Given the description of an element on the screen output the (x, y) to click on. 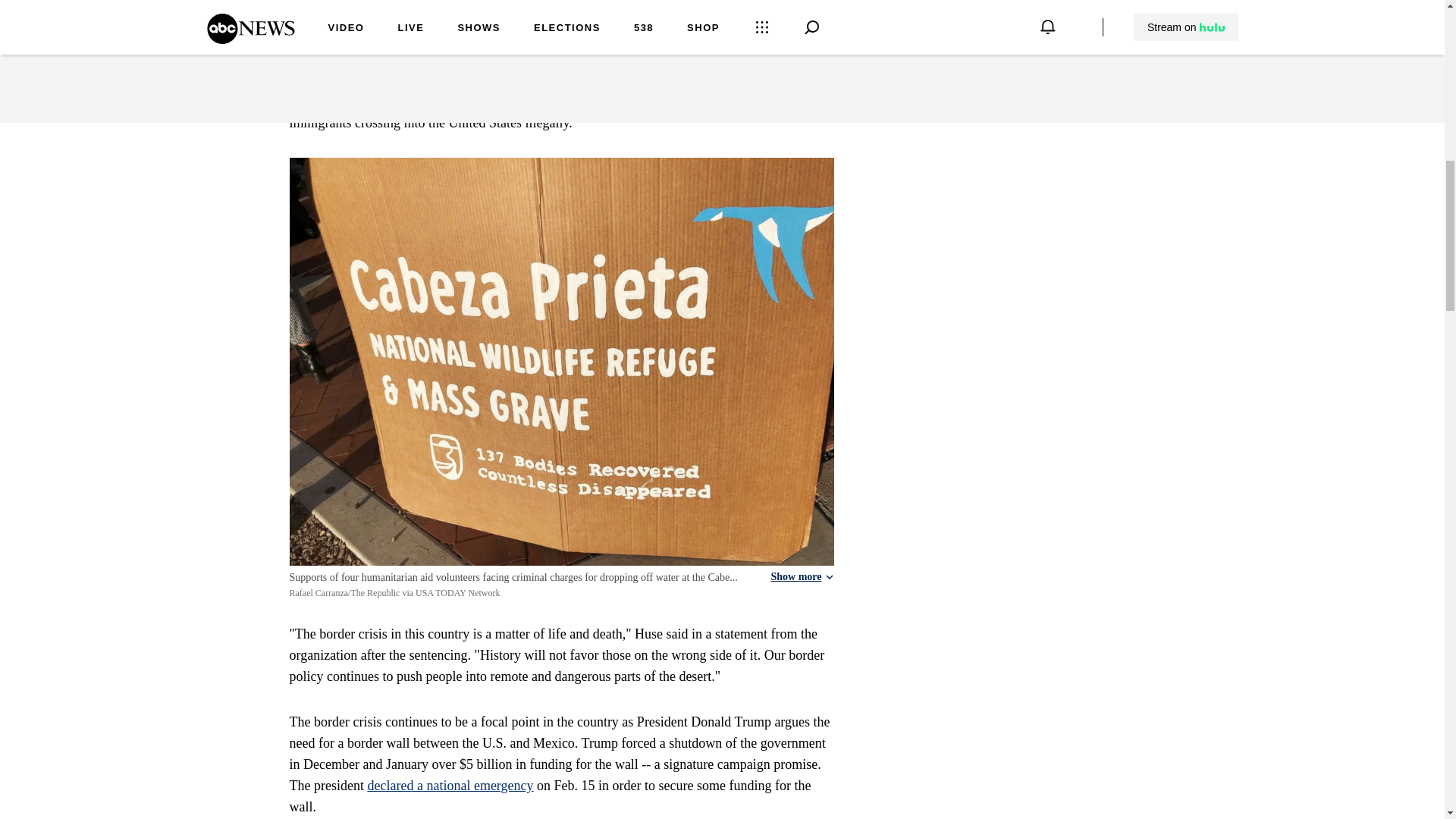
Show more (801, 576)
declared a national emergency (449, 785)
